Given the description of an element on the screen output the (x, y) to click on. 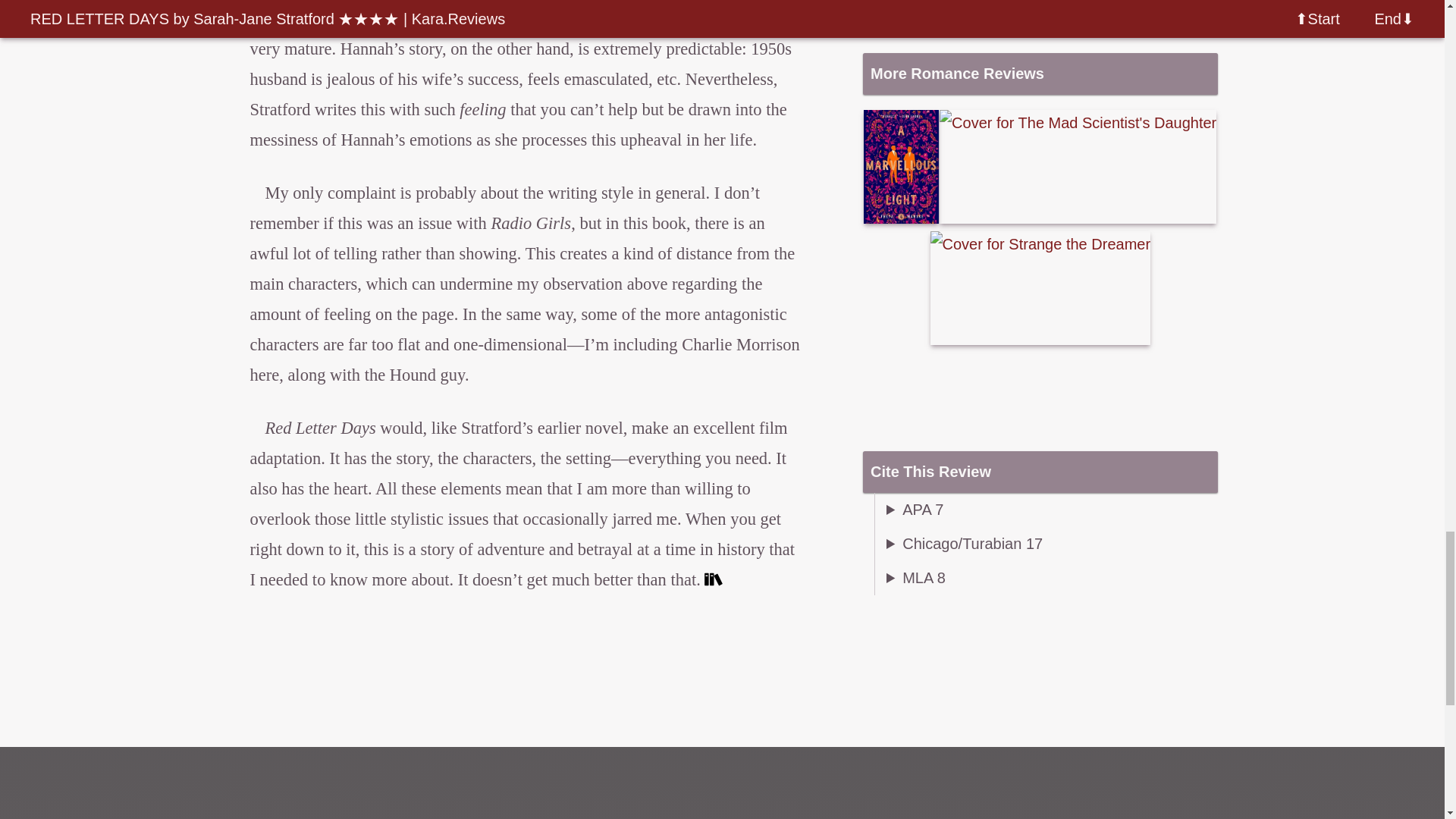
The Mad Scientist's Daughter by Cassandra Rose Clarke (1077, 166)
Strange the Dreamer by Laini Taylor (1040, 287)
